Given the description of an element on the screen output the (x, y) to click on. 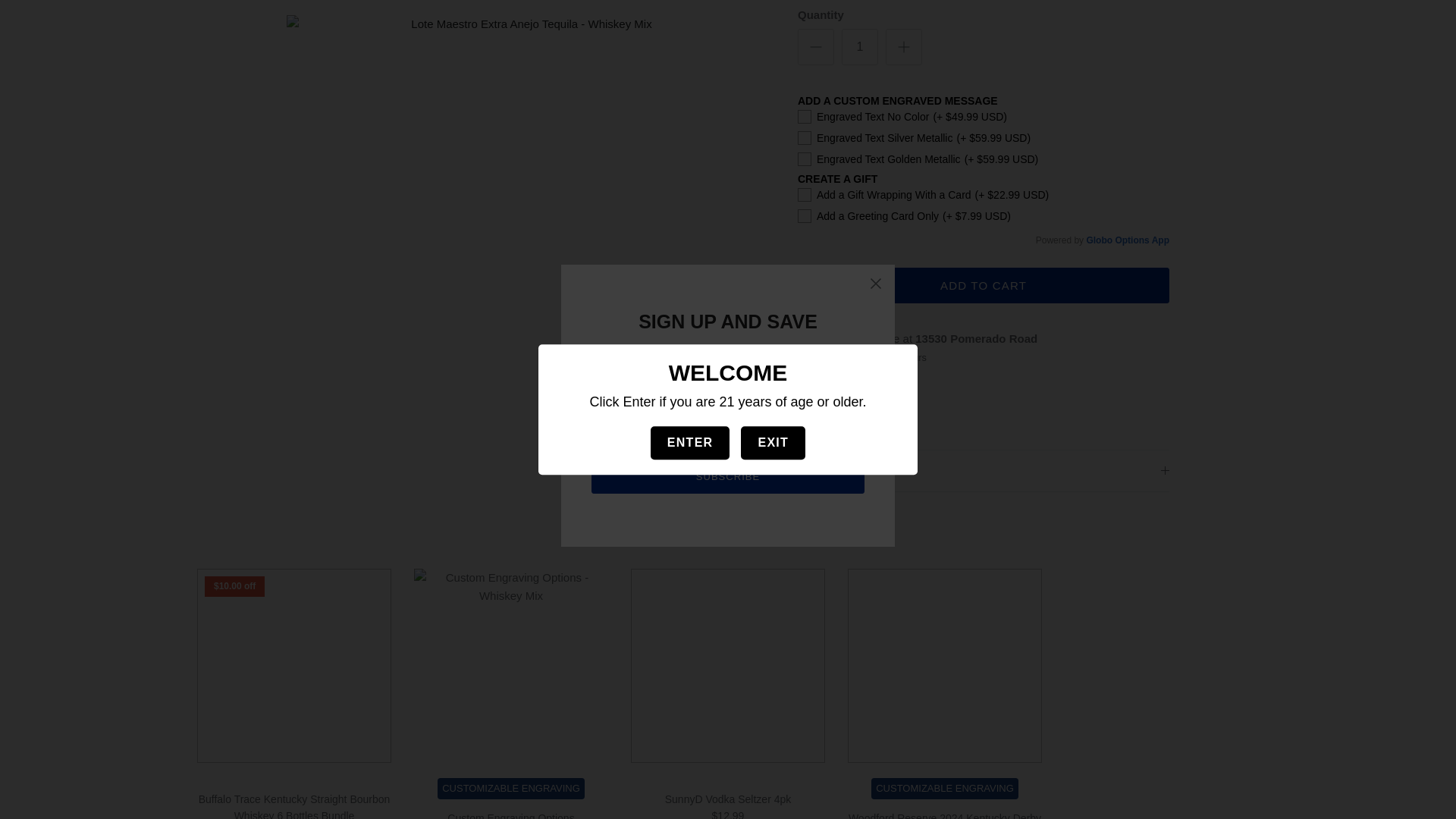
Twitter (860, 392)
1 (859, 13)
Plus (903, 9)
Facebook (838, 392)
Minus (815, 9)
Pinterest (882, 392)
